Given the description of an element on the screen output the (x, y) to click on. 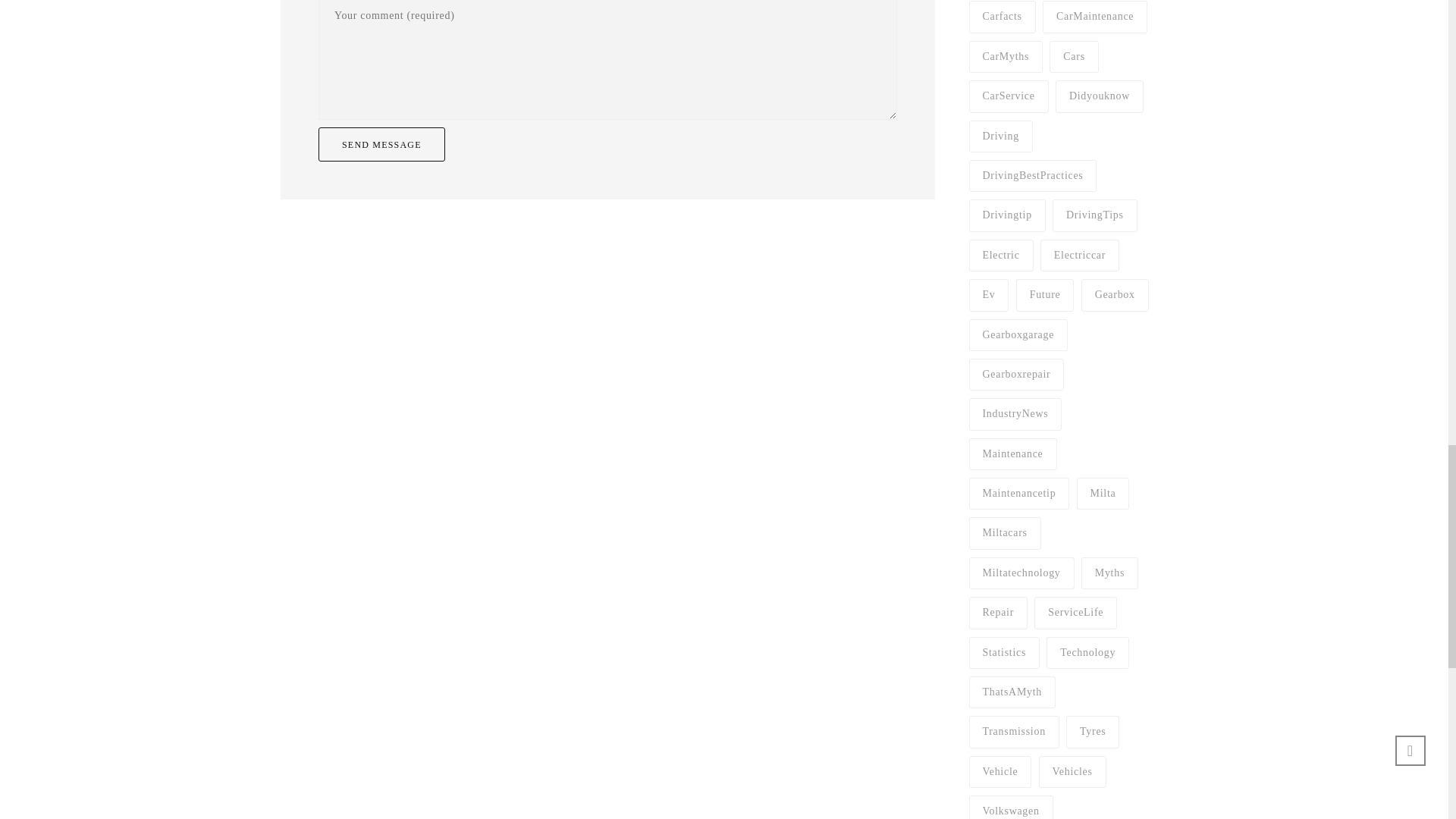
Send message (381, 144)
